Given the description of an element on the screen output the (x, y) to click on. 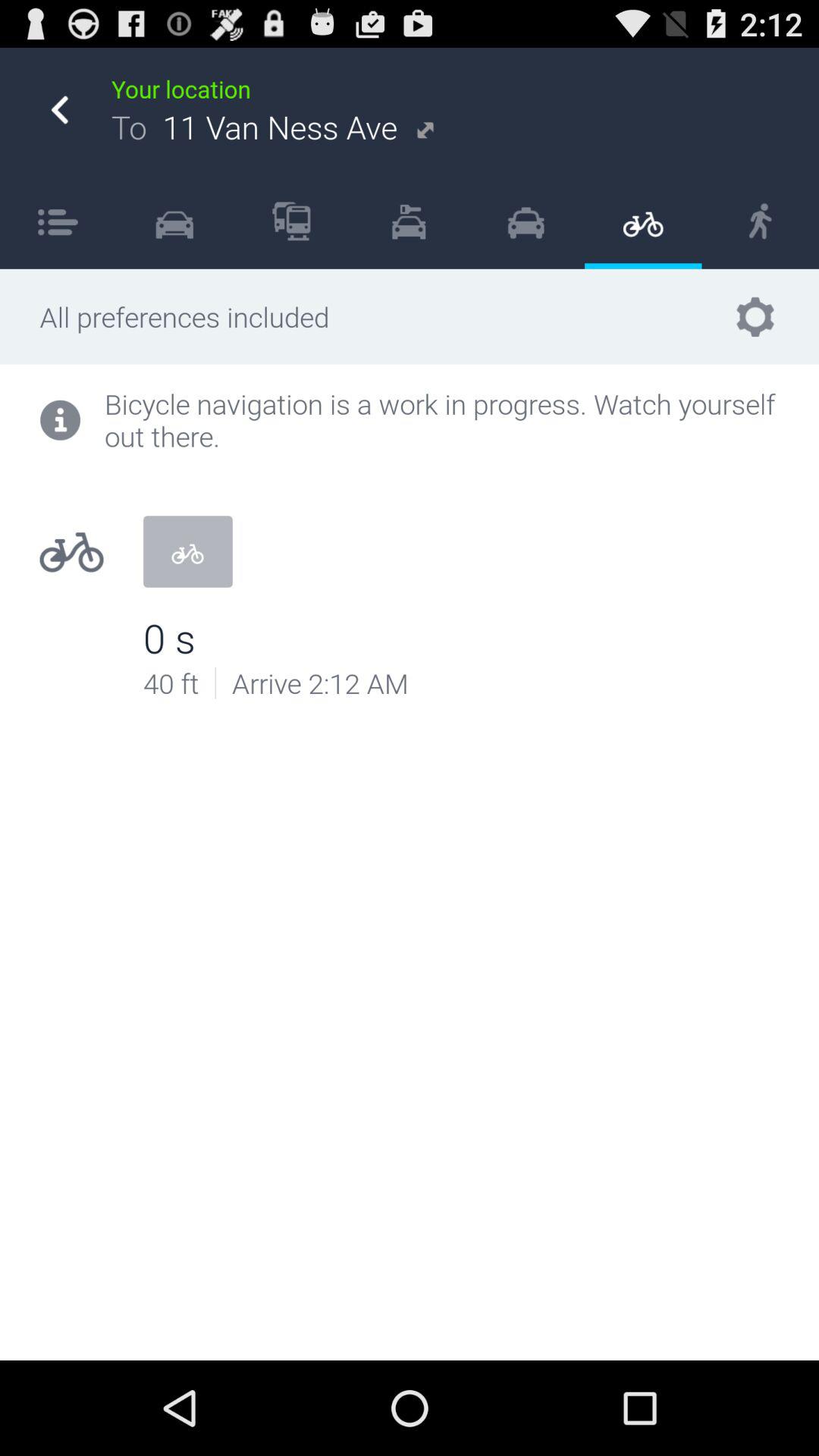
turn on item below bicycle navigation is (215, 682)
